Given the description of an element on the screen output the (x, y) to click on. 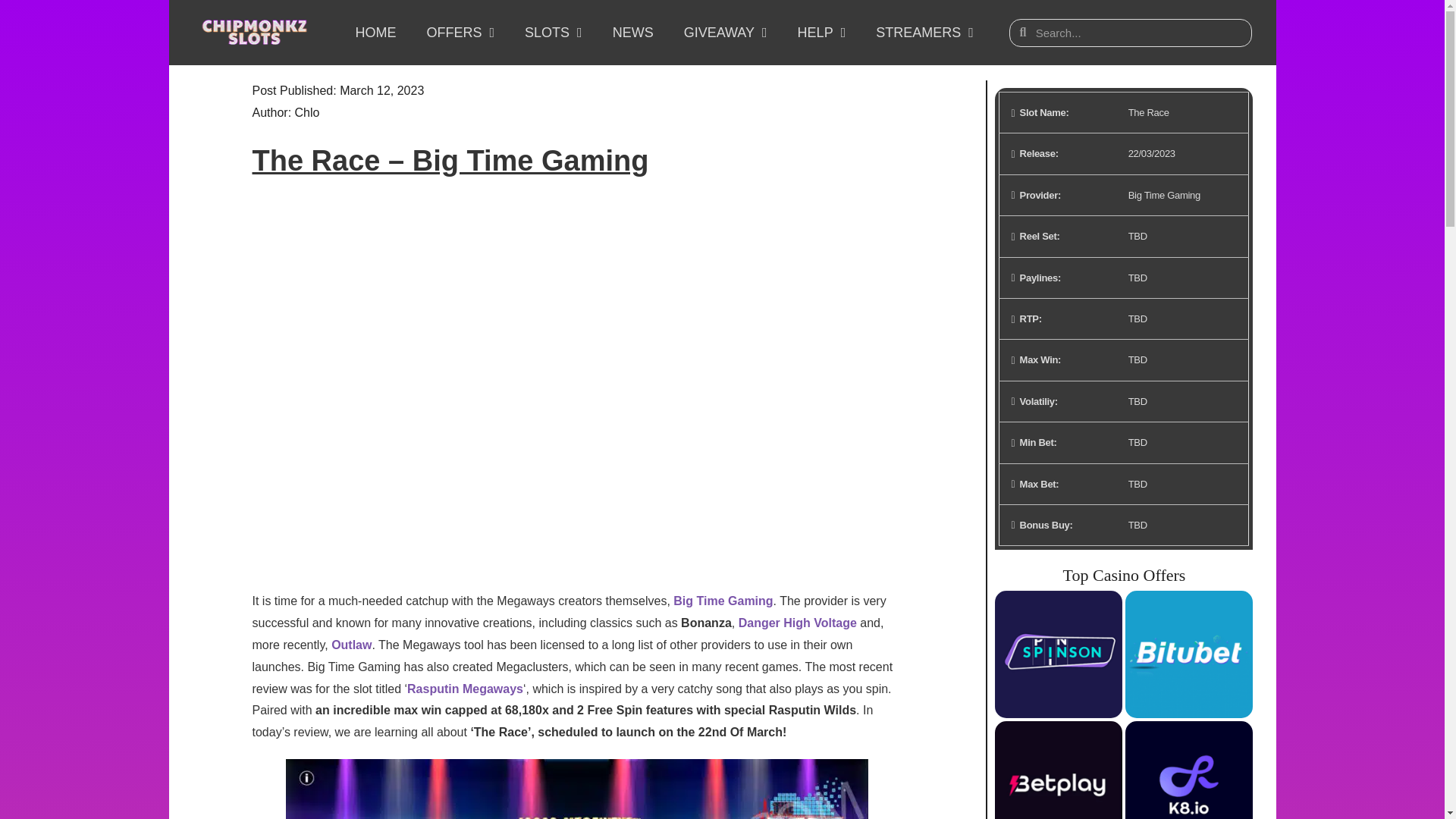
HELP (822, 32)
STREAMERS (924, 32)
NEWS (632, 32)
OFFERS (459, 32)
SLOTS (552, 32)
GIVEAWAY (725, 32)
HOME (374, 32)
